Given the description of an element on the screen output the (x, y) to click on. 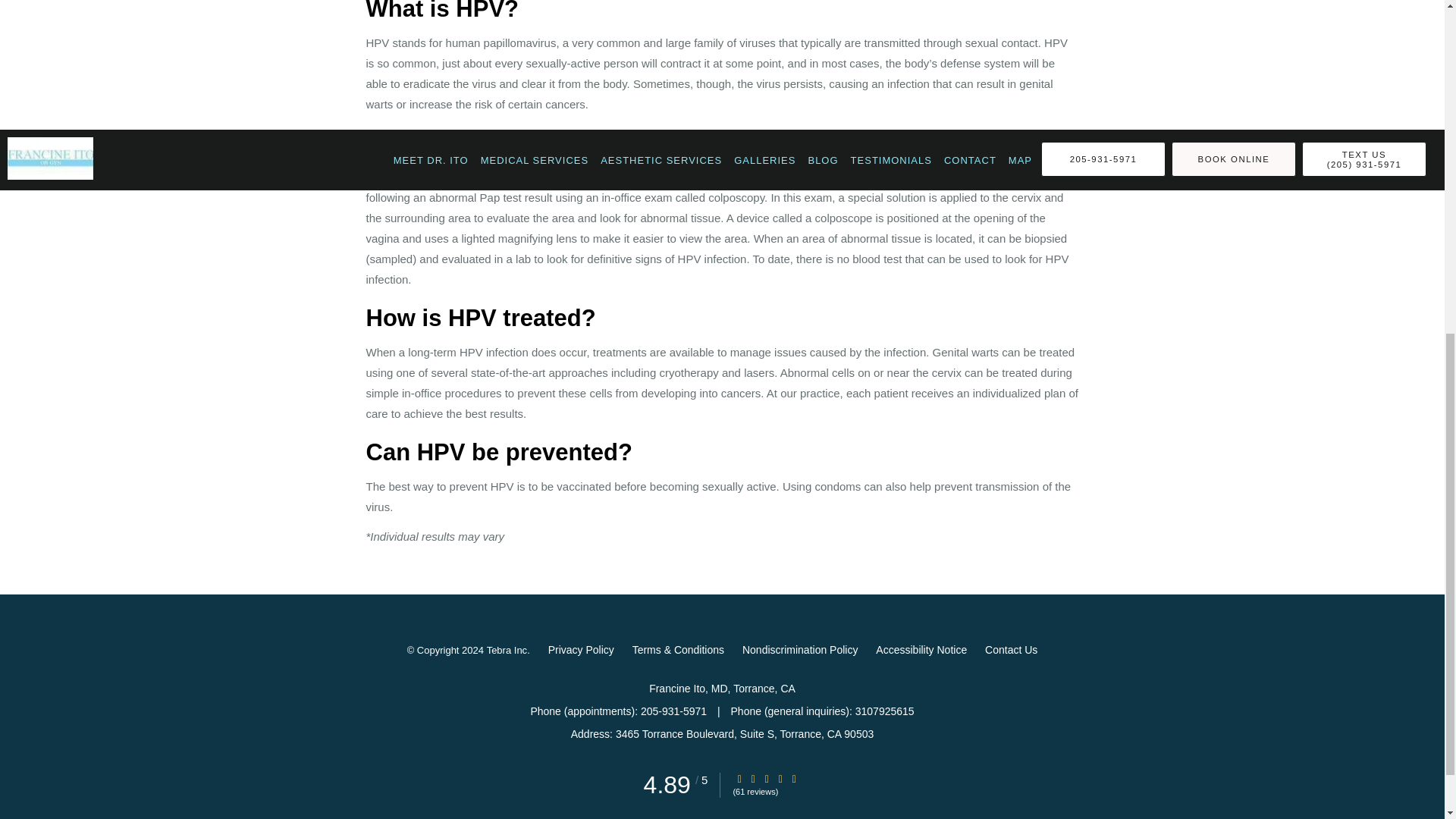
Star Rating (780, 778)
Star Rating (738, 778)
Star Rating (753, 778)
Star Rating (794, 778)
Star Rating (766, 778)
